Given the description of an element on the screen output the (x, y) to click on. 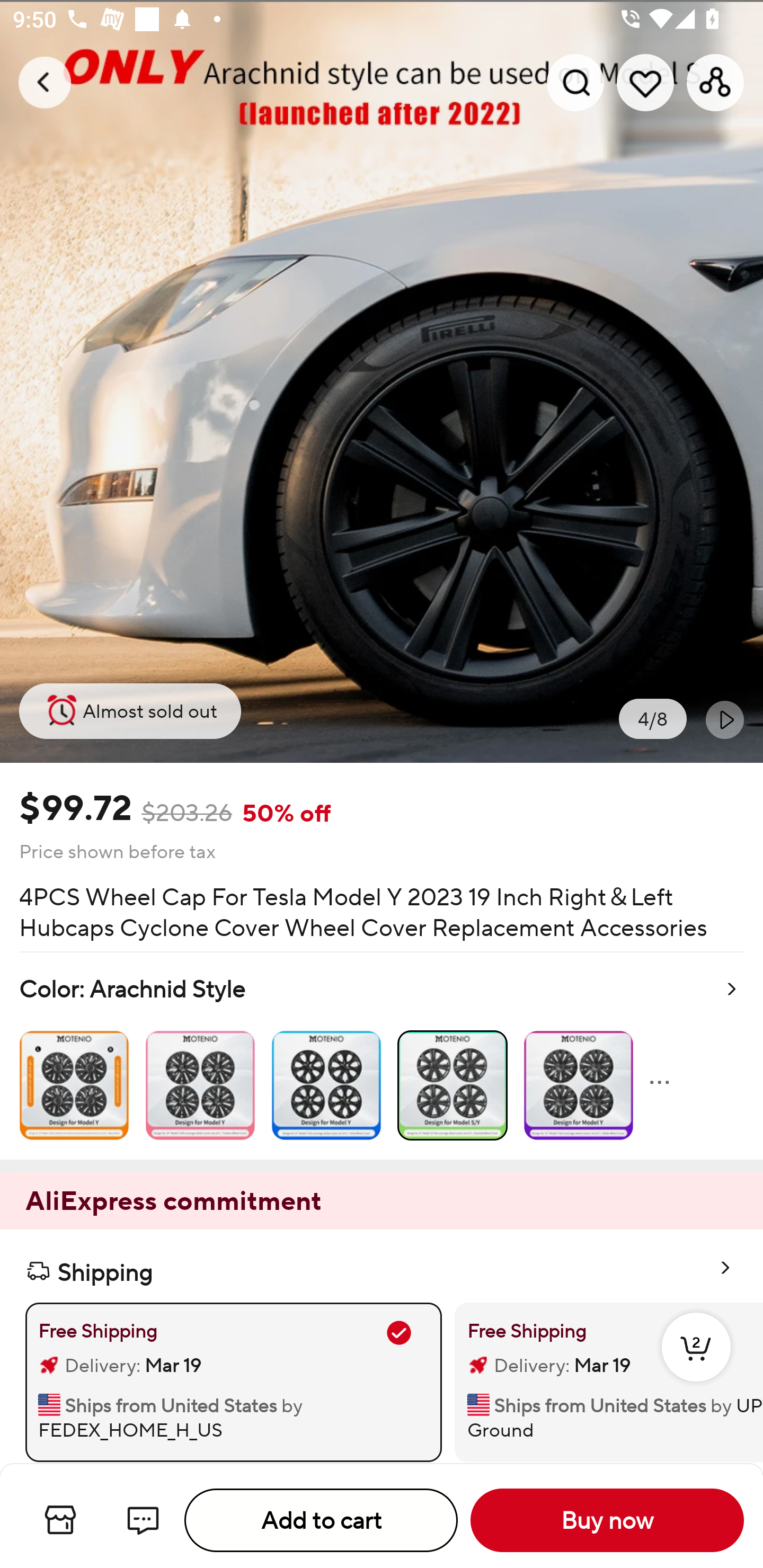
Navigate up (44, 82)
 (724, 719)
Color: Arachnid Style  (381, 1055)
2 (695, 1366)
Add to cart (320, 1520)
Buy now (606, 1520)
